Given the description of an element on the screen output the (x, y) to click on. 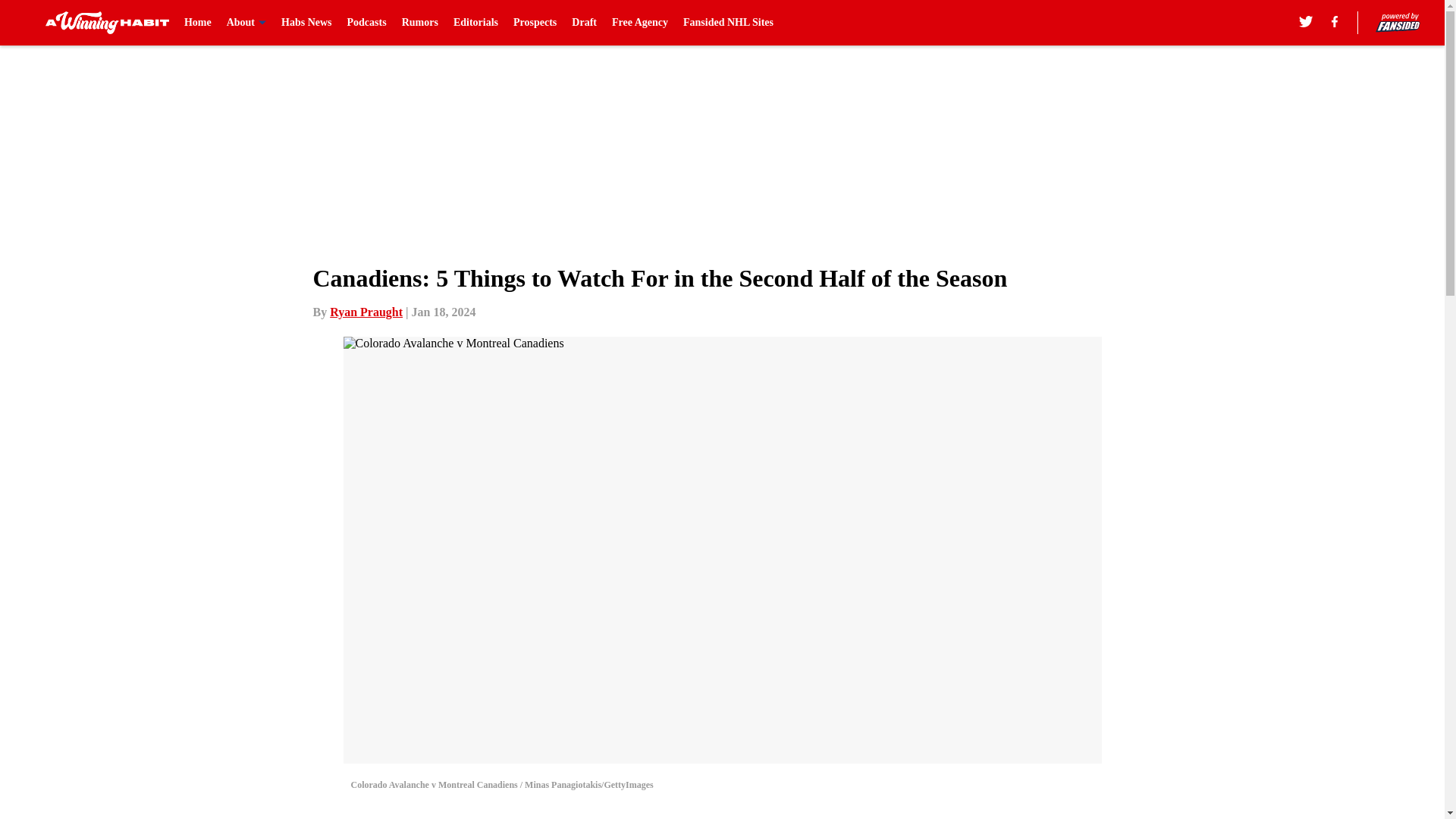
Home (197, 22)
Prospects (534, 22)
Draft (584, 22)
Habs News (306, 22)
Ryan Praught (366, 311)
Podcasts (367, 22)
Editorials (474, 22)
Fansided NHL Sites (727, 22)
Free Agency (639, 22)
